Given the description of an element on the screen output the (x, y) to click on. 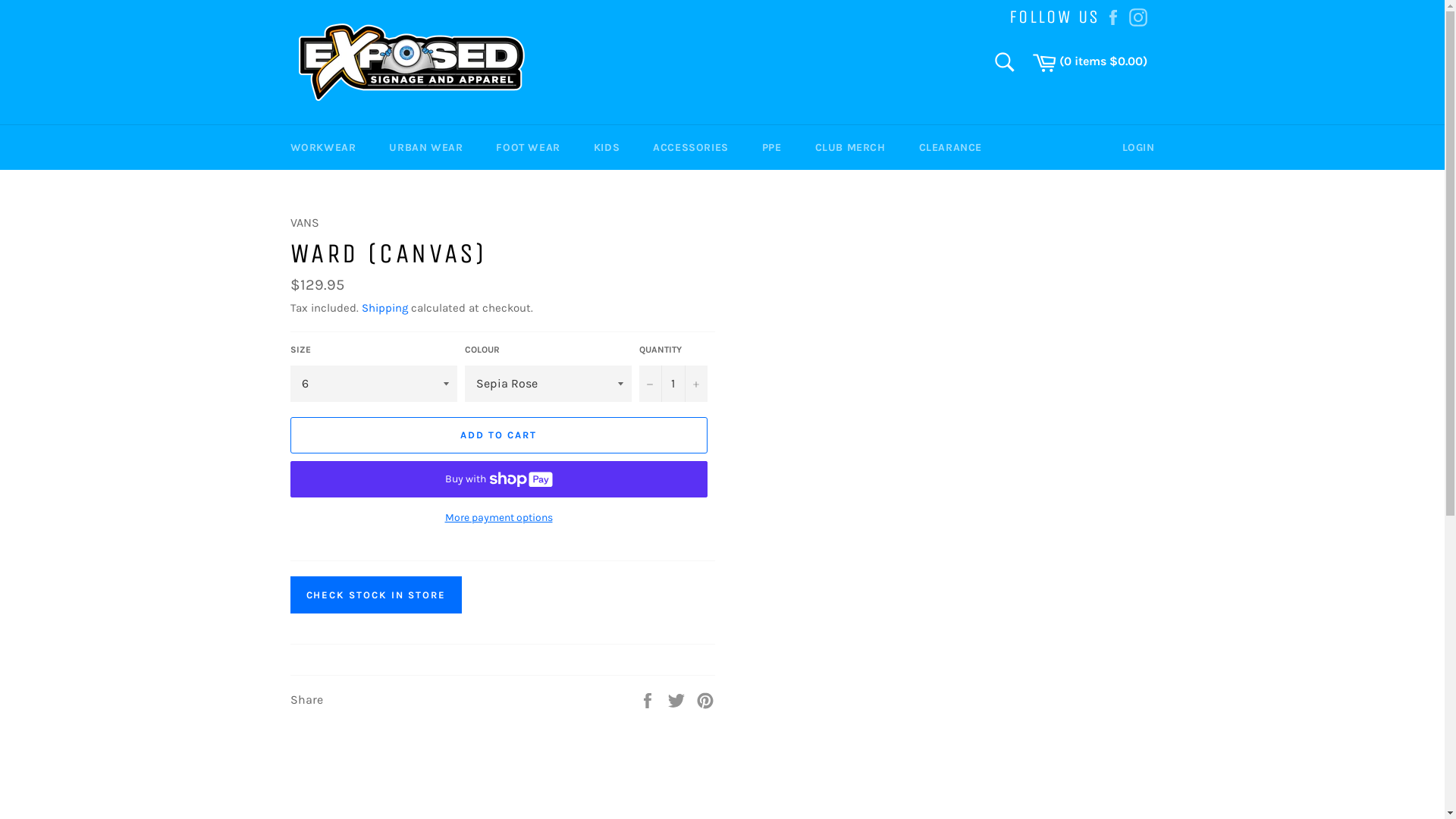
Instagram Element type: text (1137, 15)
CHECK STOCK IN STORE Element type: text (375, 595)
Facebook Element type: text (1113, 15)
KIDS Element type: text (606, 147)
CLEARANCE Element type: text (950, 147)
FOOT WEAR Element type: text (527, 147)
CLUB MERCH Element type: text (850, 147)
Shipping Element type: text (383, 307)
Tweet on Twitter Element type: text (677, 698)
Pin on Pinterest Element type: text (705, 698)
Search Element type: text (1003, 61)
WORKWEAR Element type: text (322, 147)
+ Element type: text (695, 383)
More payment options Element type: text (497, 517)
PPE Element type: text (771, 147)
Cart
(0 items $0.00) Element type: text (1088, 61)
LOGIN Element type: text (1138, 147)
URBAN WEAR Element type: text (425, 147)
Share on Facebook Element type: text (648, 698)
ACCESSORIES Element type: text (690, 147)
ADD TO CART Element type: text (497, 435)
